Given the description of an element on the screen output the (x, y) to click on. 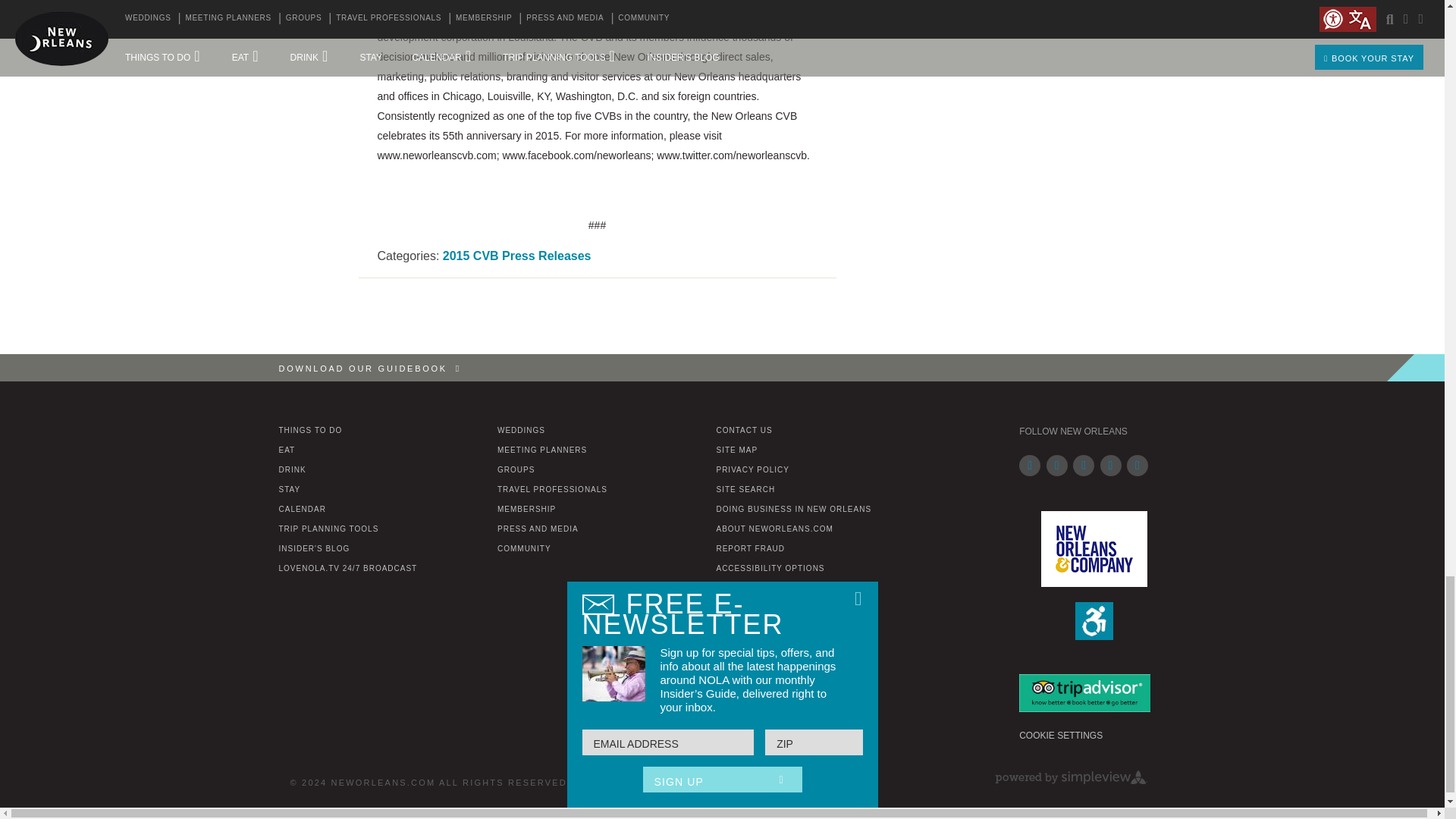
Things to Do (310, 429)
